Given the description of an element on the screen output the (x, y) to click on. 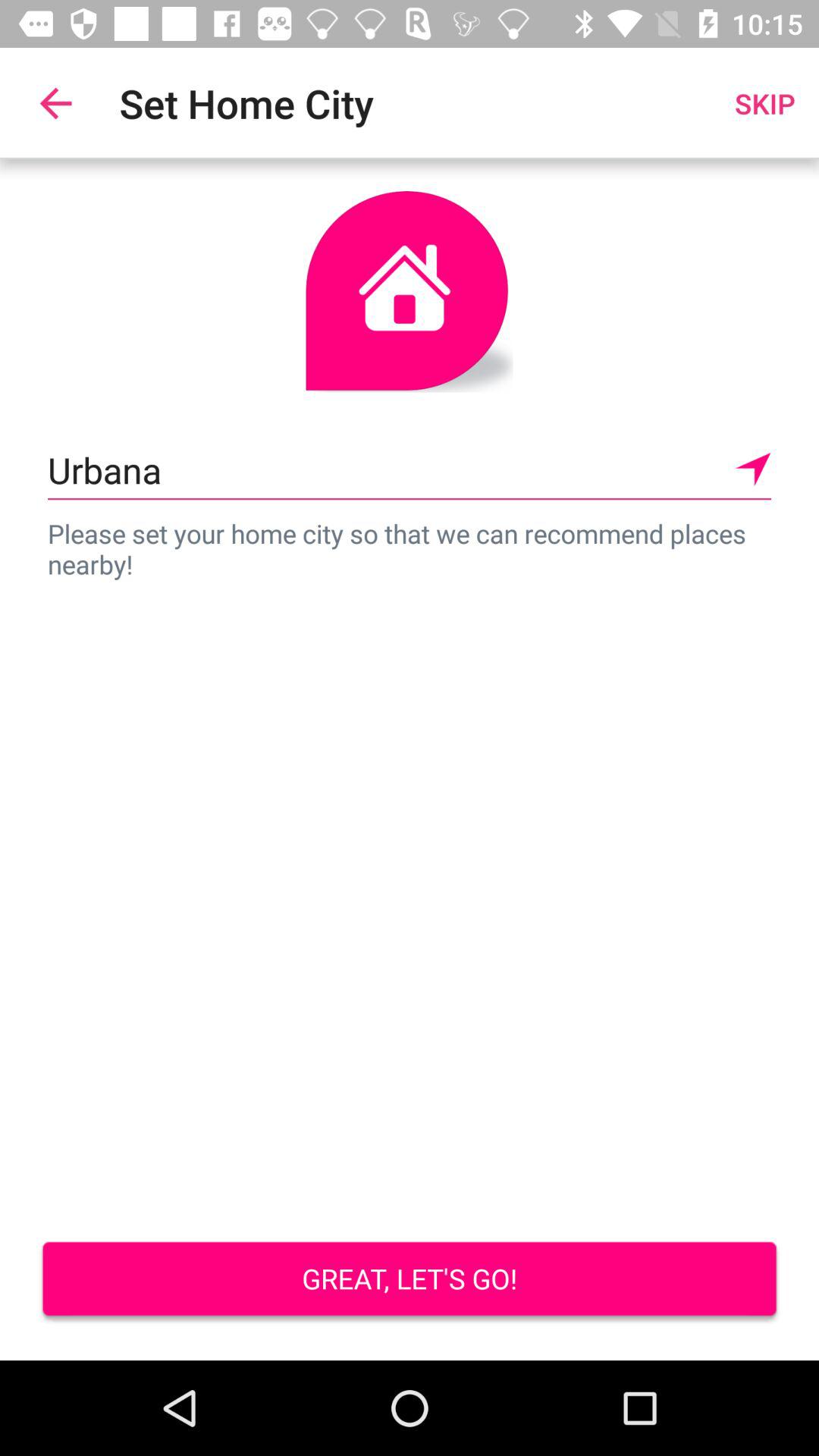
click icon above please set your (409, 469)
